Given the description of an element on the screen output the (x, y) to click on. 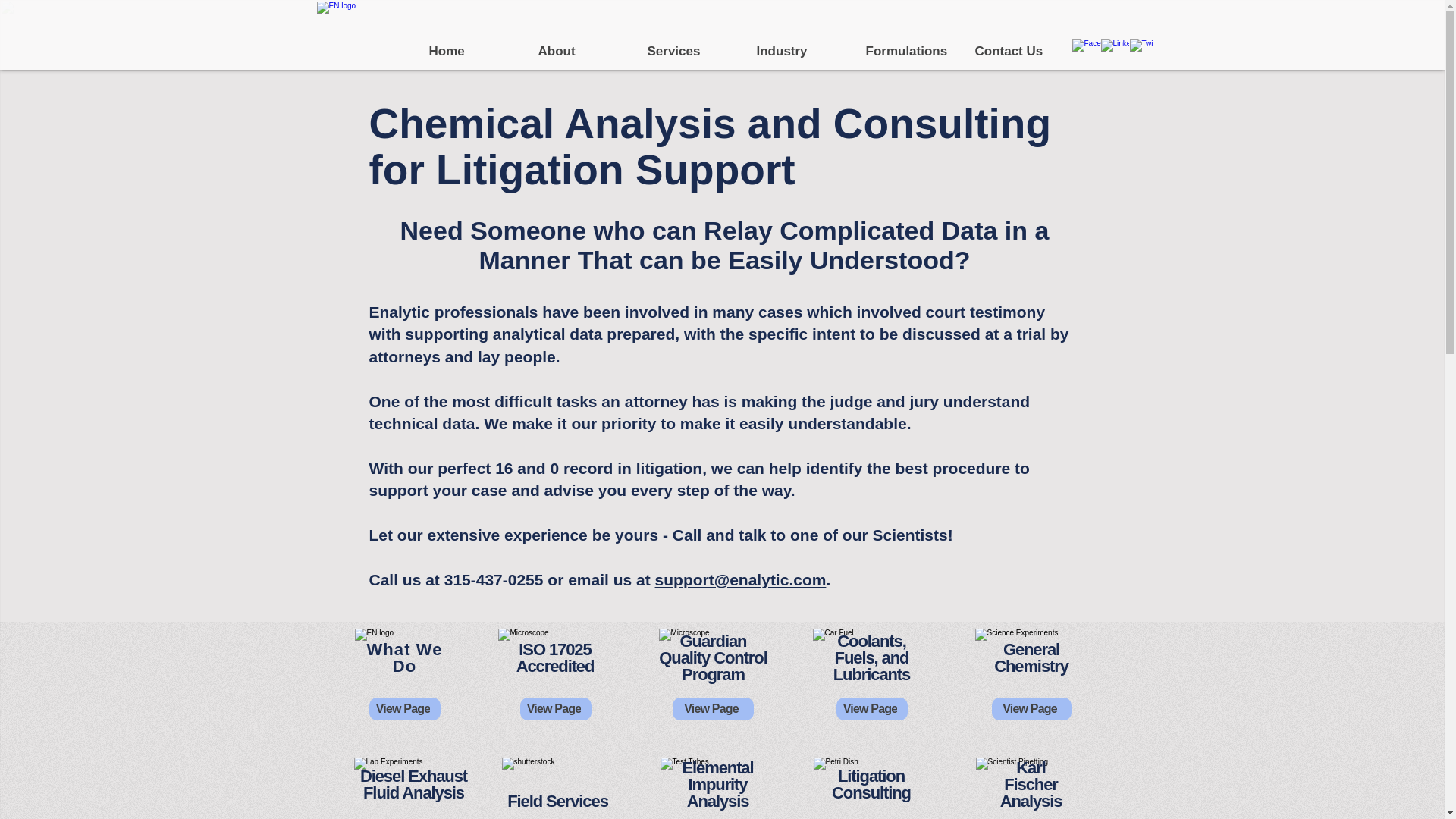
About (579, 50)
Diesel Exhaust Fluid Analysis (413, 784)
View Page (555, 708)
Field Services (557, 800)
What We Do (404, 657)
Contact Us (1016, 50)
Home (470, 50)
View Page (403, 708)
ISO 17025 Accredited (555, 657)
Formulations (907, 50)
